Given the description of an element on the screen output the (x, y) to click on. 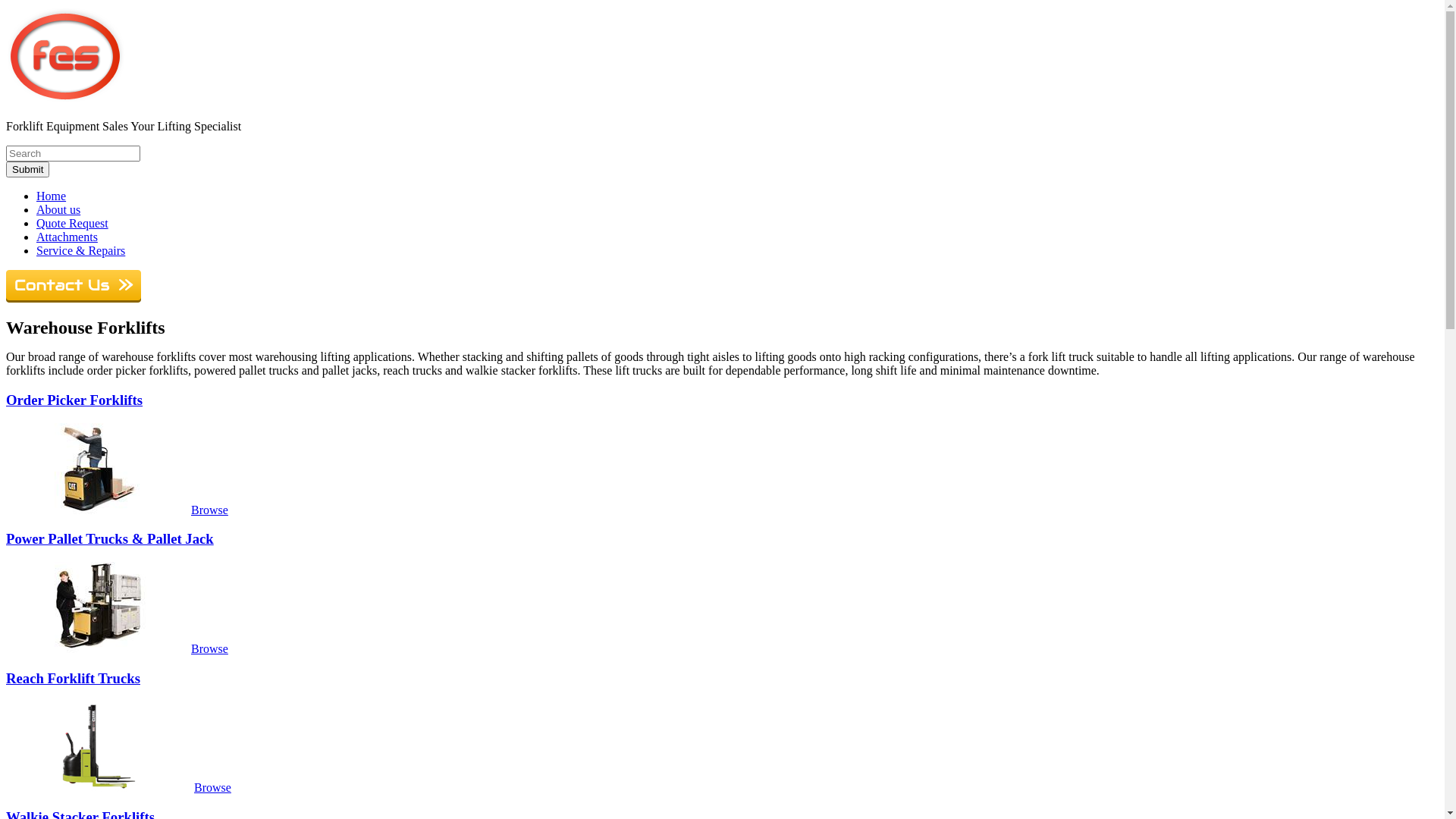
Order Picker Forklifts Element type: hover (98, 509)
Service & Repairs Element type: text (80, 250)
Reach Forklift Trucks Element type: hover (98, 787)
About us Element type: text (58, 209)
Attachments Element type: text (66, 236)
Home Element type: text (50, 195)
Quote Request Element type: text (72, 222)
Contact Us Element type: hover (73, 285)
Reach Forklift Trucks Element type: text (73, 678)
Forklift Equipment Sales Element type: hover (66, 55)
Browse Element type: text (212, 787)
Order Picker Forklifts Element type: text (74, 399)
Power Pallet Trucks & Pallet Jack Element type: text (109, 538)
Contact Us Element type: hover (73, 297)
Browse Element type: text (209, 509)
Power Pallet Trucks & Pallet Jack Element type: hover (98, 648)
Browse Element type: text (209, 648)
Forklift Equipment Sales Element type: hover (66, 100)
